Given the description of an element on the screen output the (x, y) to click on. 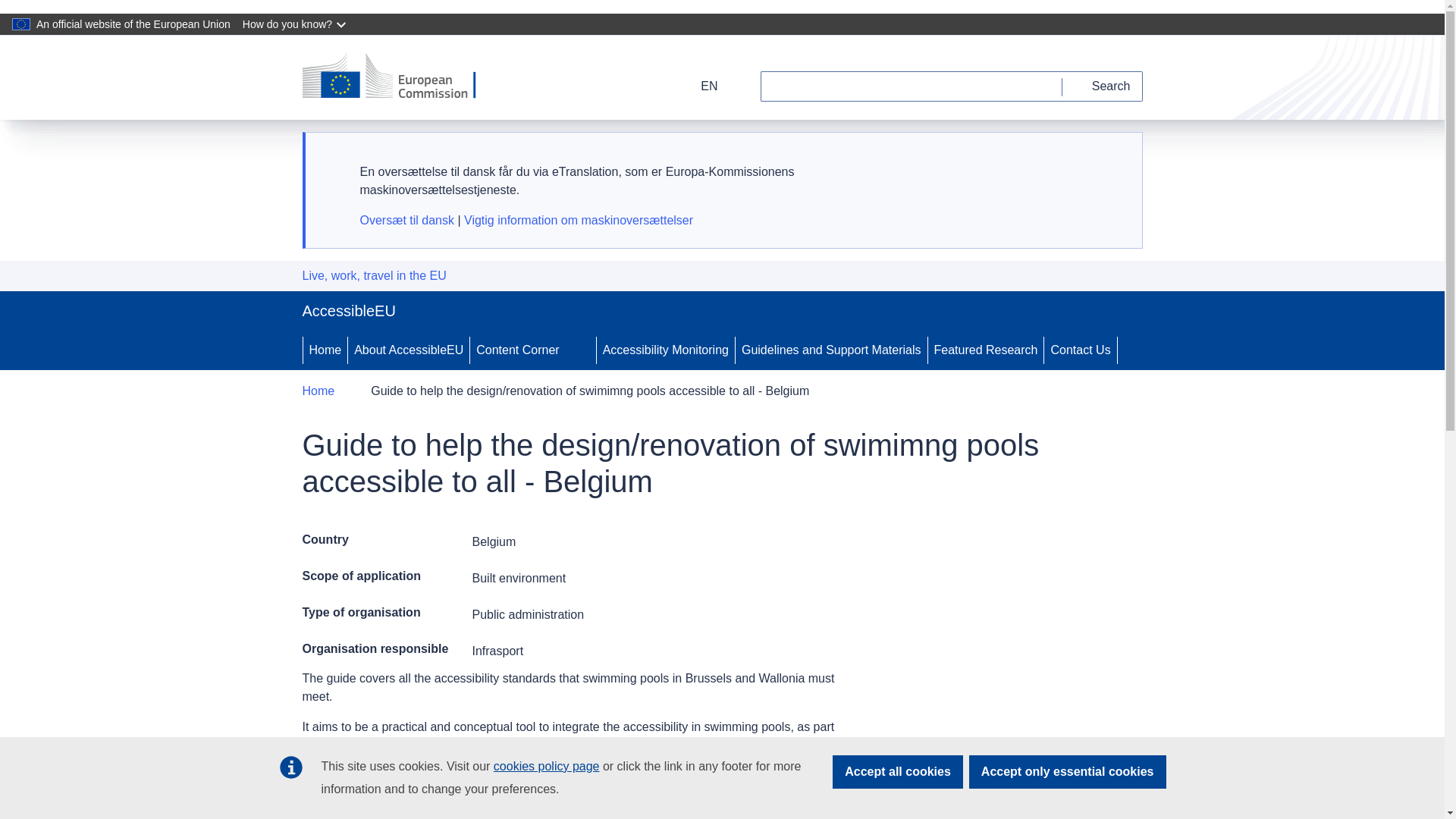
Home (317, 391)
Contact Us (1079, 350)
How do you know? (295, 24)
Search (1102, 86)
Accessibility Monitoring (665, 350)
Accept only essential cookies (1067, 771)
Guidelines and Support Materials (831, 350)
cookies policy page (546, 766)
Luk denne meddelelse (1112, 159)
European Commission (399, 77)
Home (324, 350)
Accept all cookies (897, 771)
Content Corner (516, 350)
Live, work, travel in the EU (373, 275)
